Given the description of an element on the screen output the (x, y) to click on. 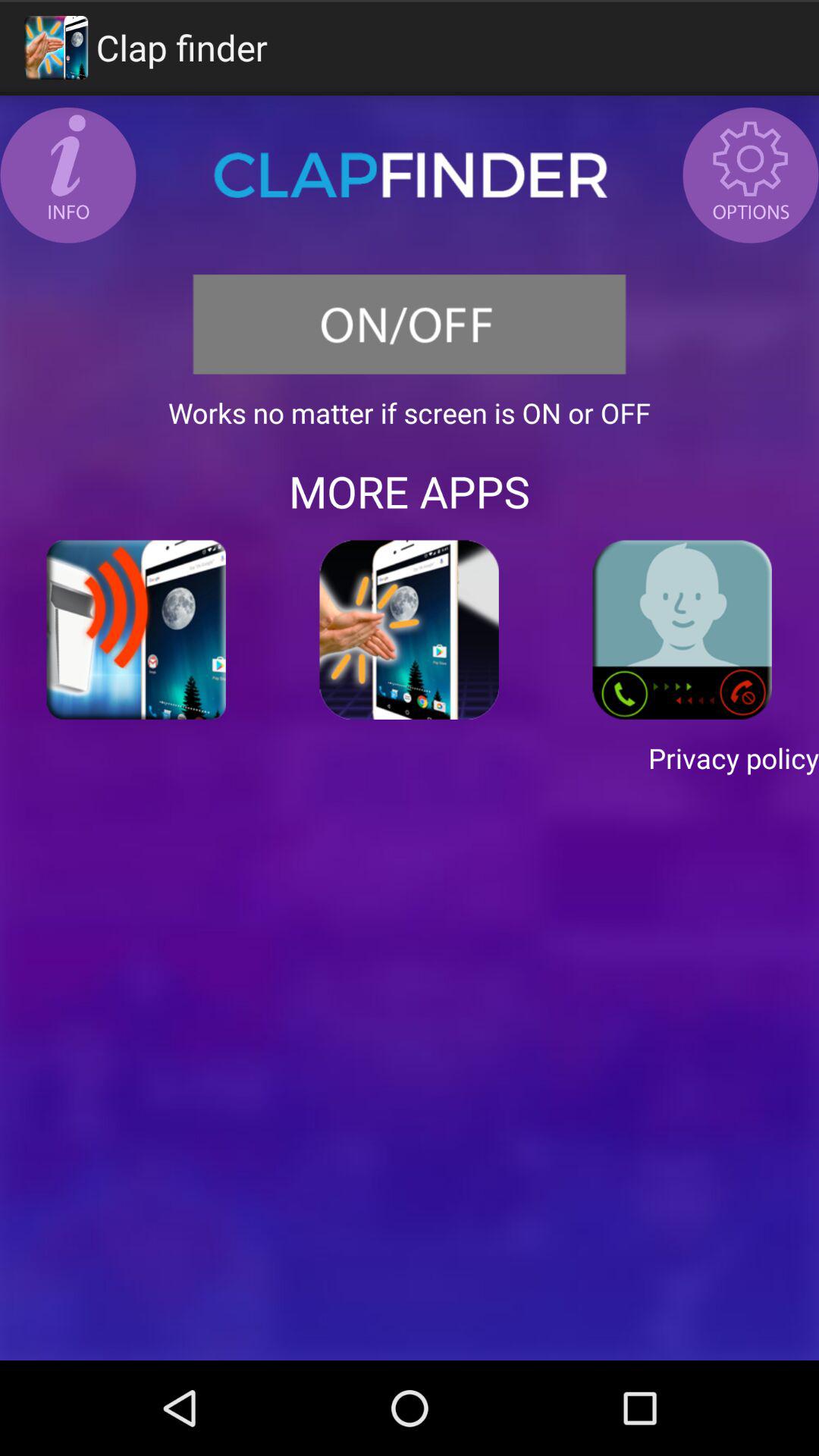
choose app (409, 629)
